Given the description of an element on the screen output the (x, y) to click on. 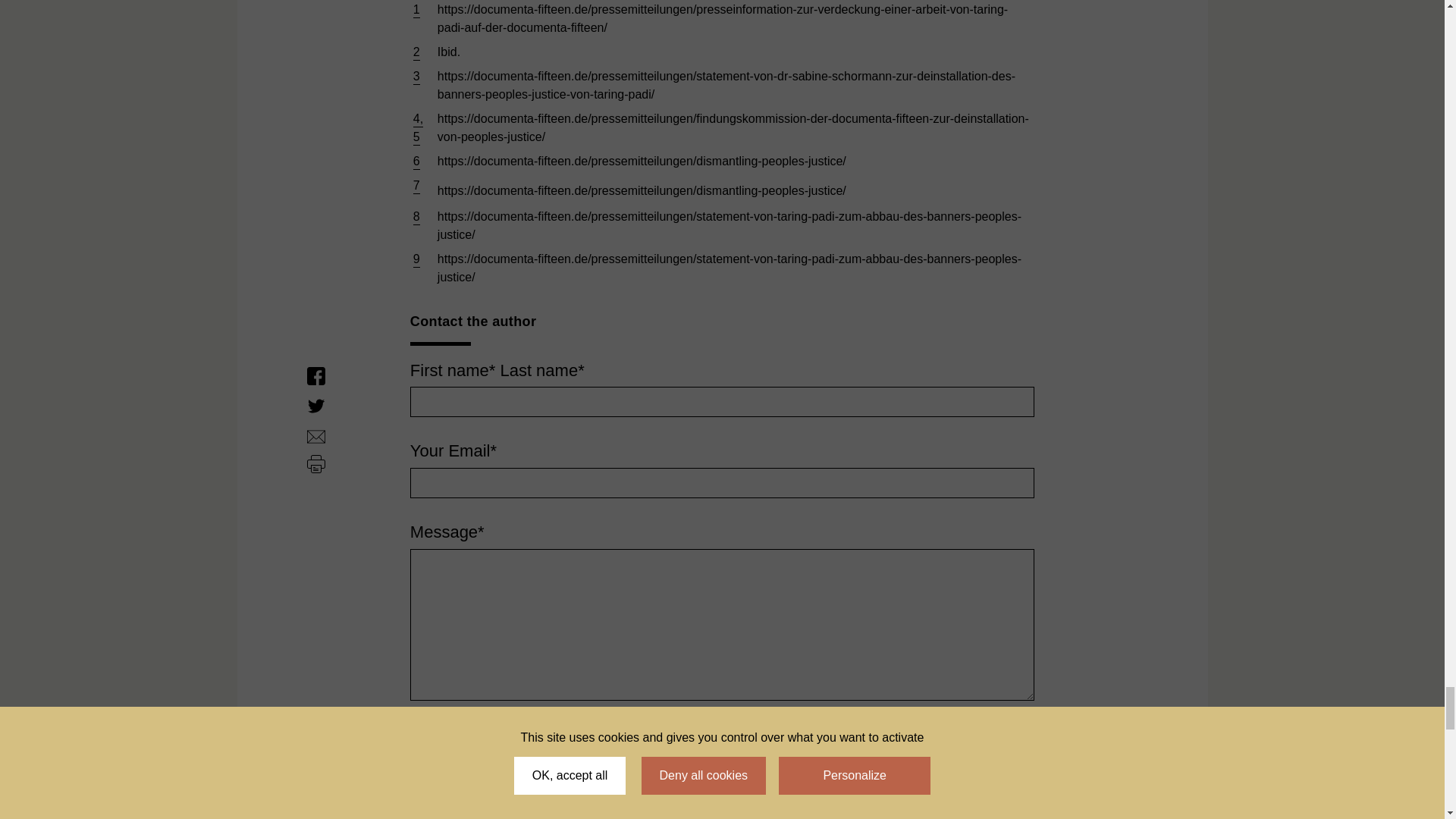
Send (432, 736)
